Given the description of an element on the screen output the (x, y) to click on. 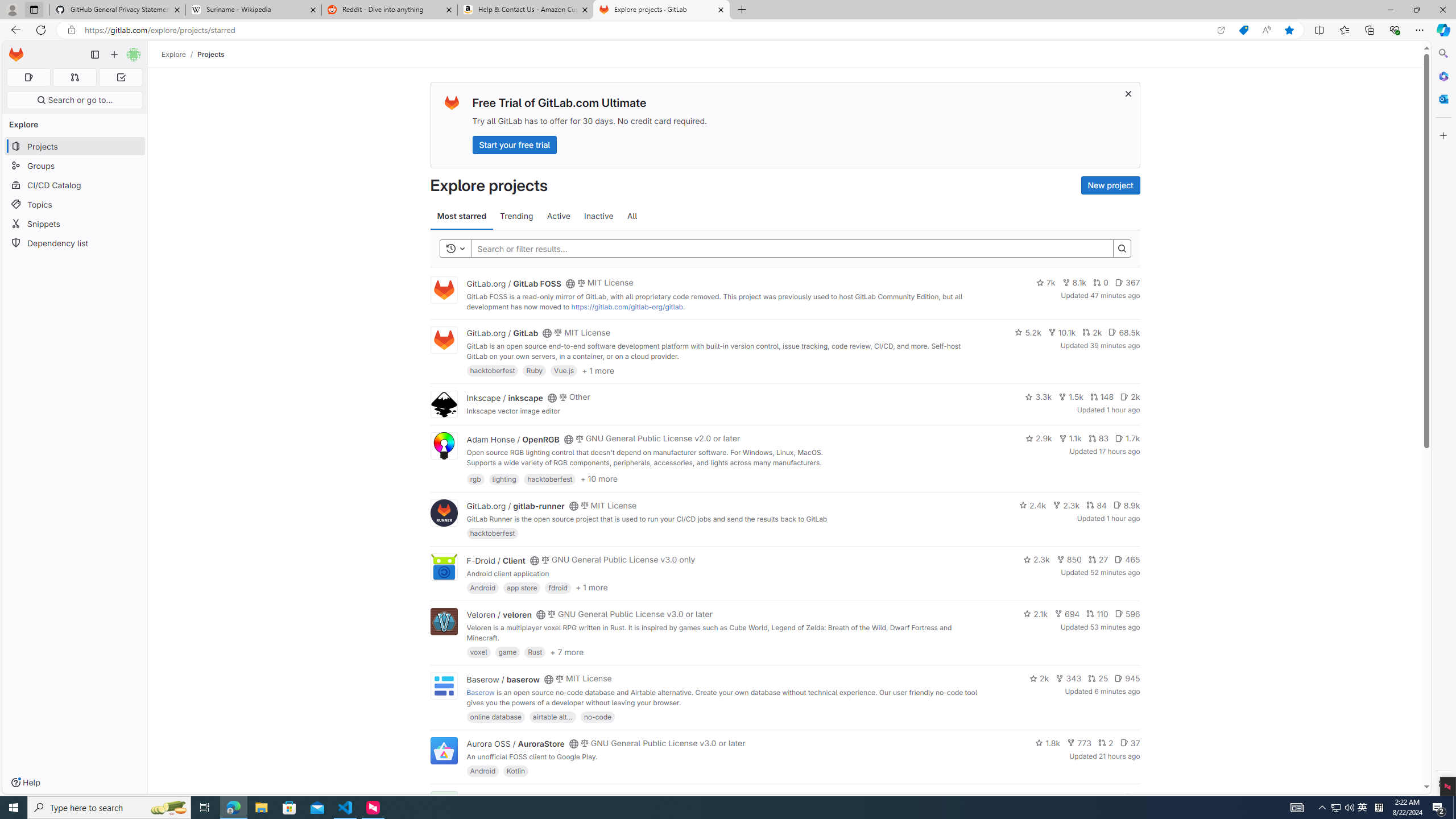
Ruby (533, 370)
Active (559, 216)
1.7k (1127, 438)
CI/CD Catalog (74, 185)
Class: s14 gl-mr-2 (1128, 796)
5.2k (1027, 331)
Open in app (1220, 29)
Android (482, 770)
465 (1127, 559)
fdroid (558, 587)
148 (1101, 396)
Topics (74, 203)
